Given the description of an element on the screen output the (x, y) to click on. 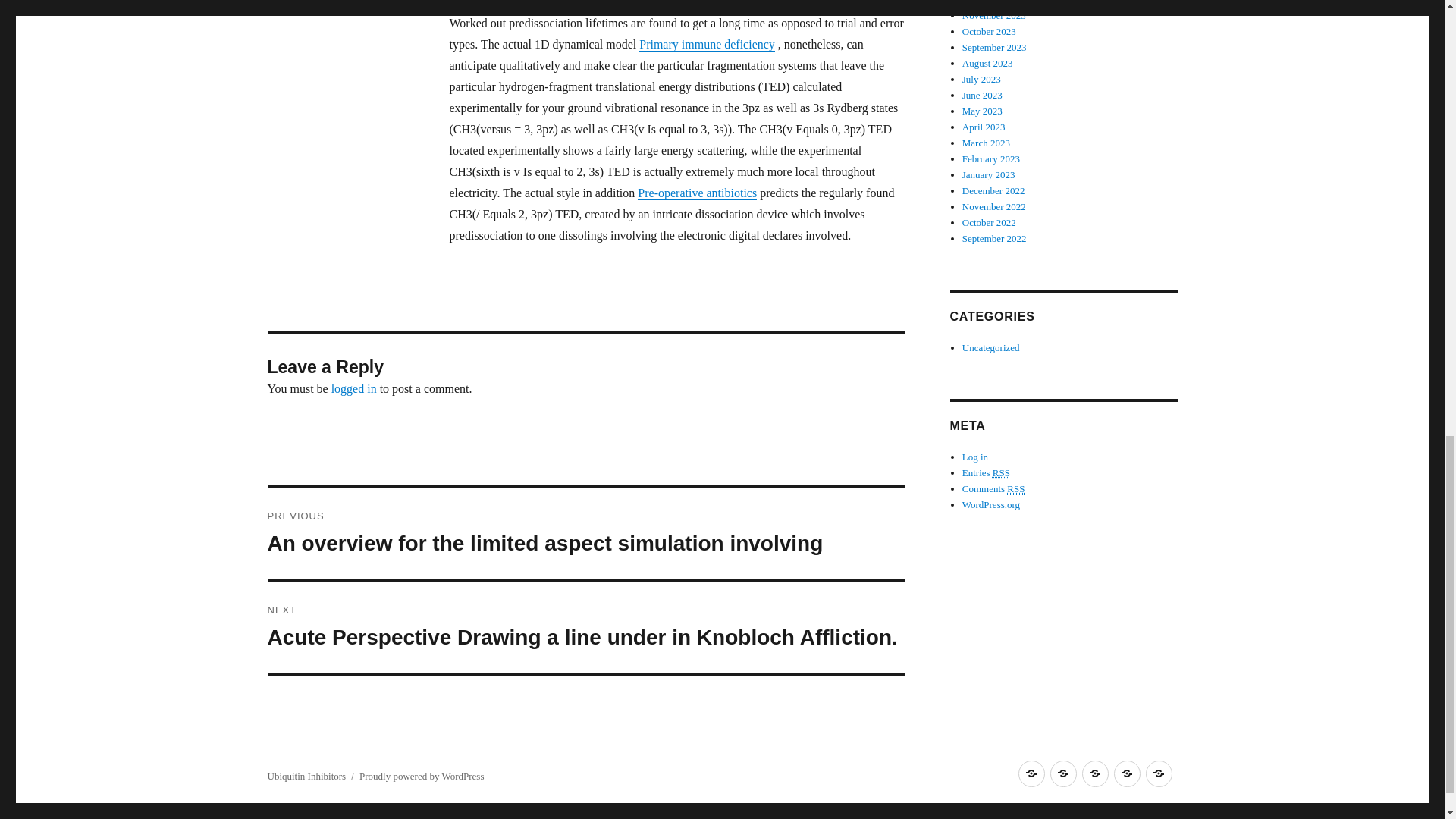
Primary immune deficiency (706, 43)
logged in (354, 388)
Really Simple Syndication (1016, 489)
Really Simple Syndication (1001, 472)
Pre-operative antibiotics (697, 192)
